Given the description of an element on the screen output the (x, y) to click on. 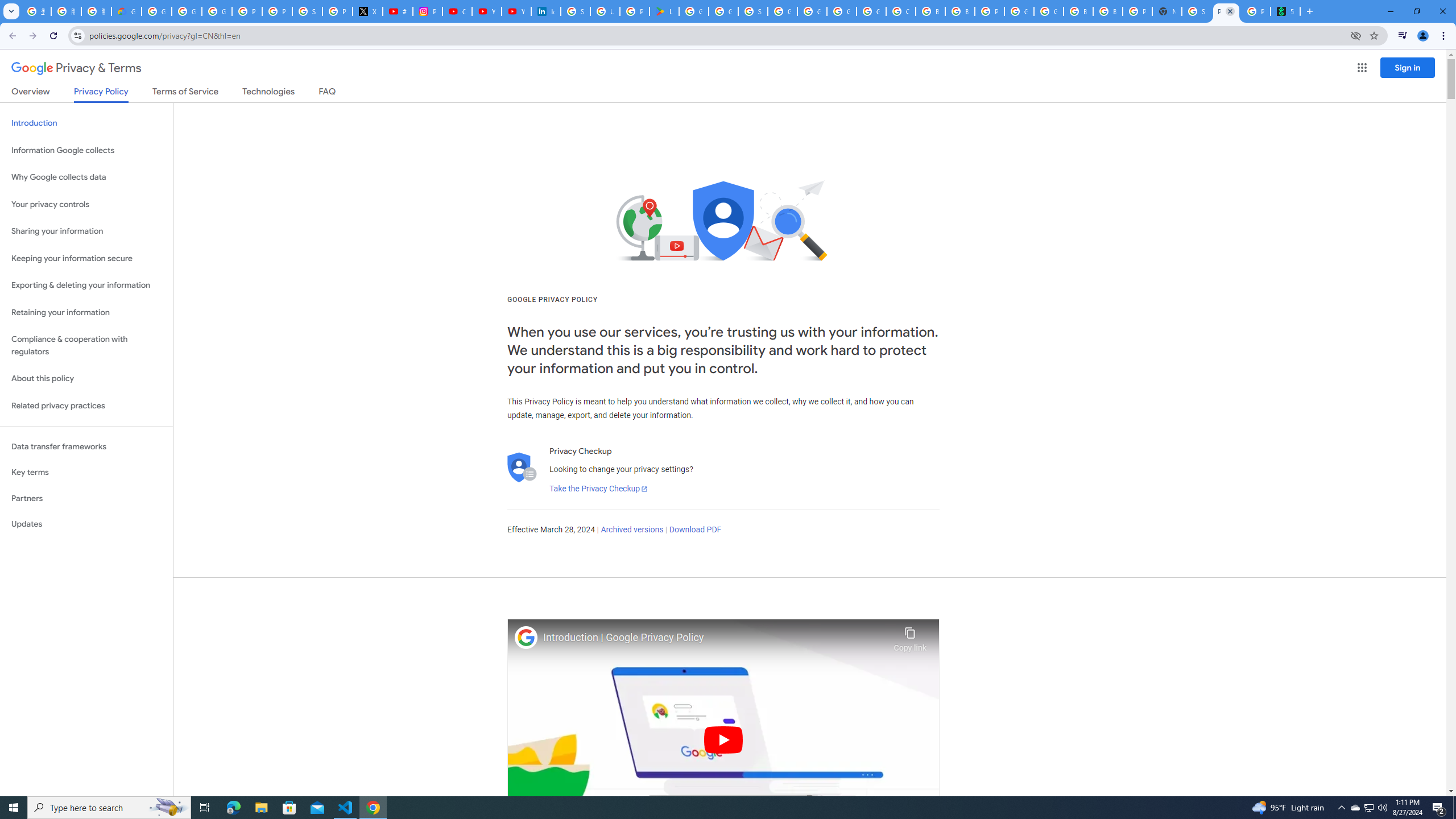
Archived versions (631, 529)
Download PDF (695, 529)
Copy link (909, 636)
YouTube Culture & Trends - YouTube Top 10, 2021 (515, 11)
